Given the description of an element on the screen output the (x, y) to click on. 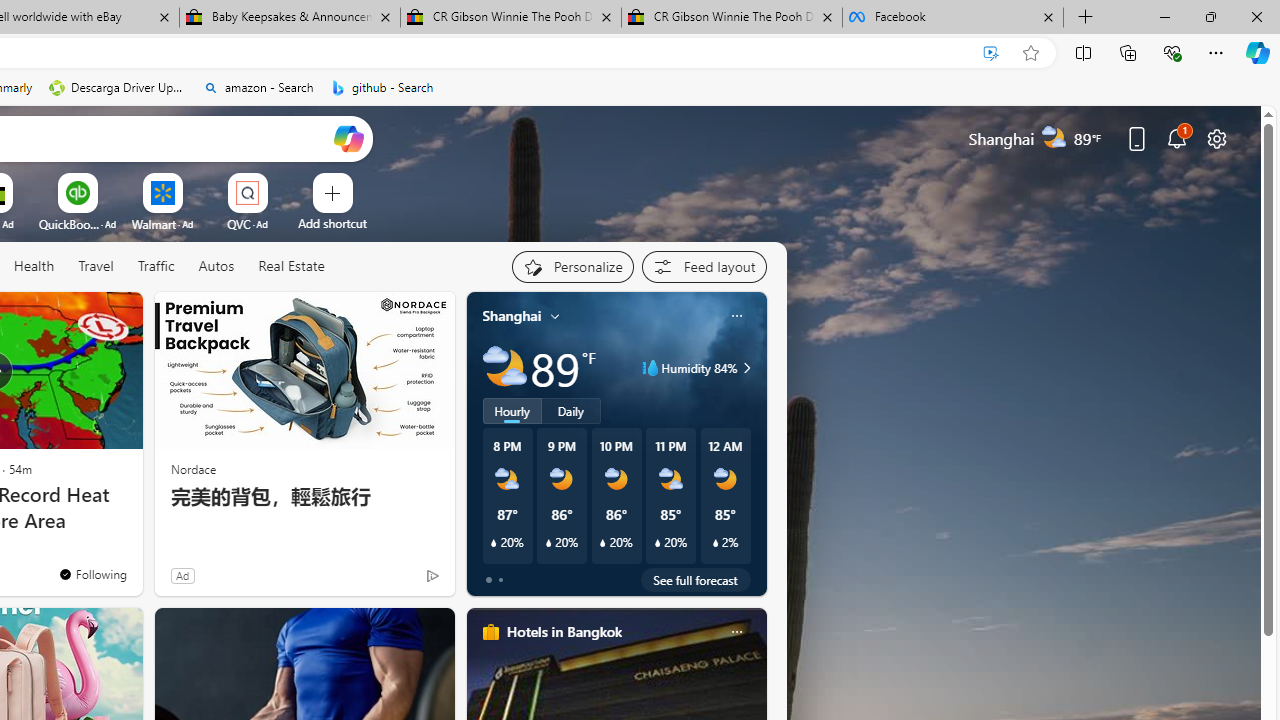
Feed settings (703, 266)
Humidity 84% (744, 367)
See full forecast (695, 579)
Shanghai (511, 315)
Real Estate (291, 265)
Facebook (953, 17)
hotels-header-icon (490, 632)
